Given the description of an element on the screen output the (x, y) to click on. 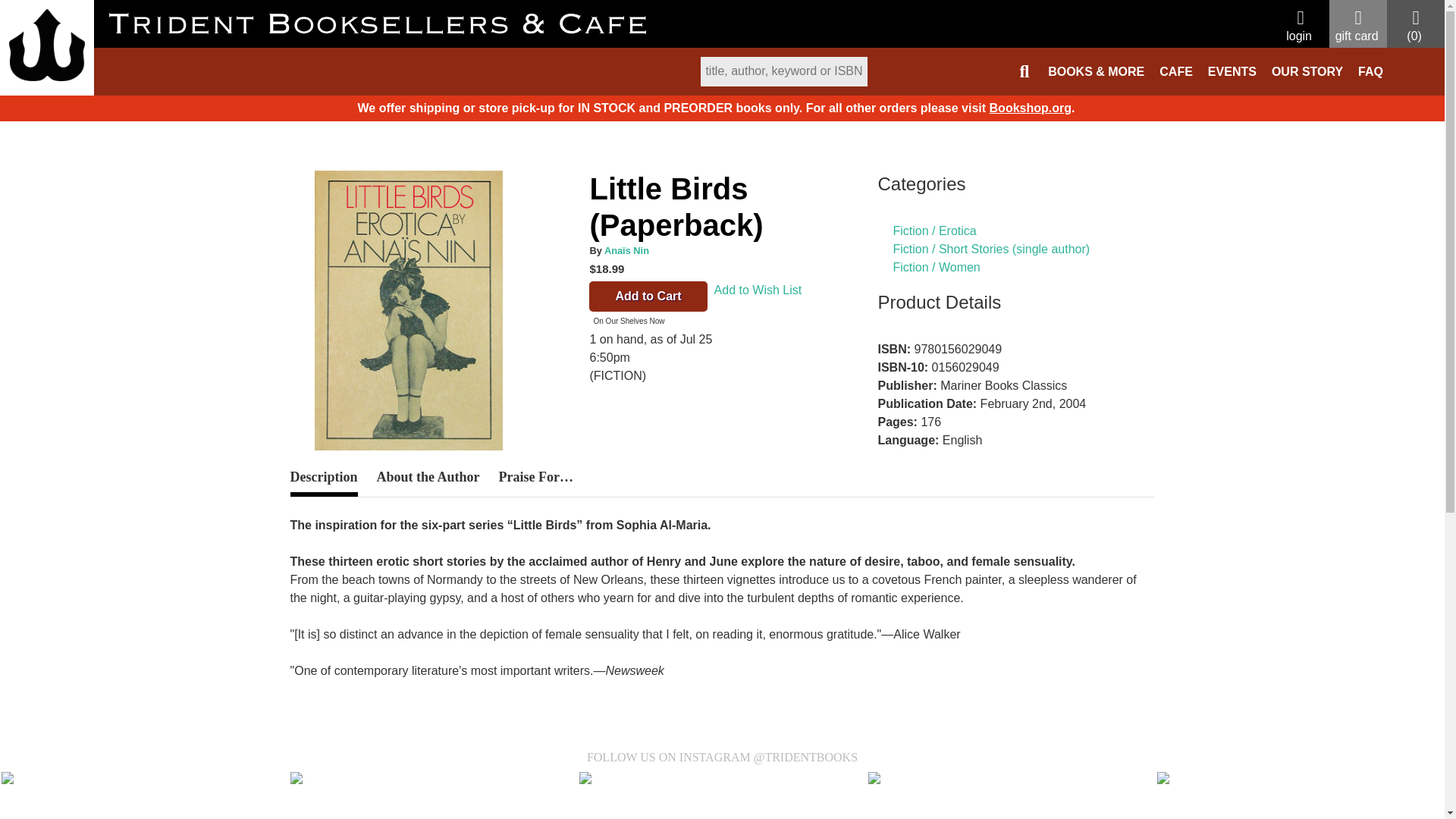
Home (47, 45)
gift card (1358, 26)
login (1300, 26)
EVENTS (1231, 71)
CAFE (1175, 71)
Description (322, 482)
OUR STORY (1307, 71)
Add to Wish List (758, 298)
FAQ (1370, 71)
Enter the terms you wish to search for. (783, 71)
Home (305, 114)
Add to Cart (647, 296)
Bookshop.org (1030, 108)
Search (799, 79)
About the Author (427, 477)
